Given the description of an element on the screen output the (x, y) to click on. 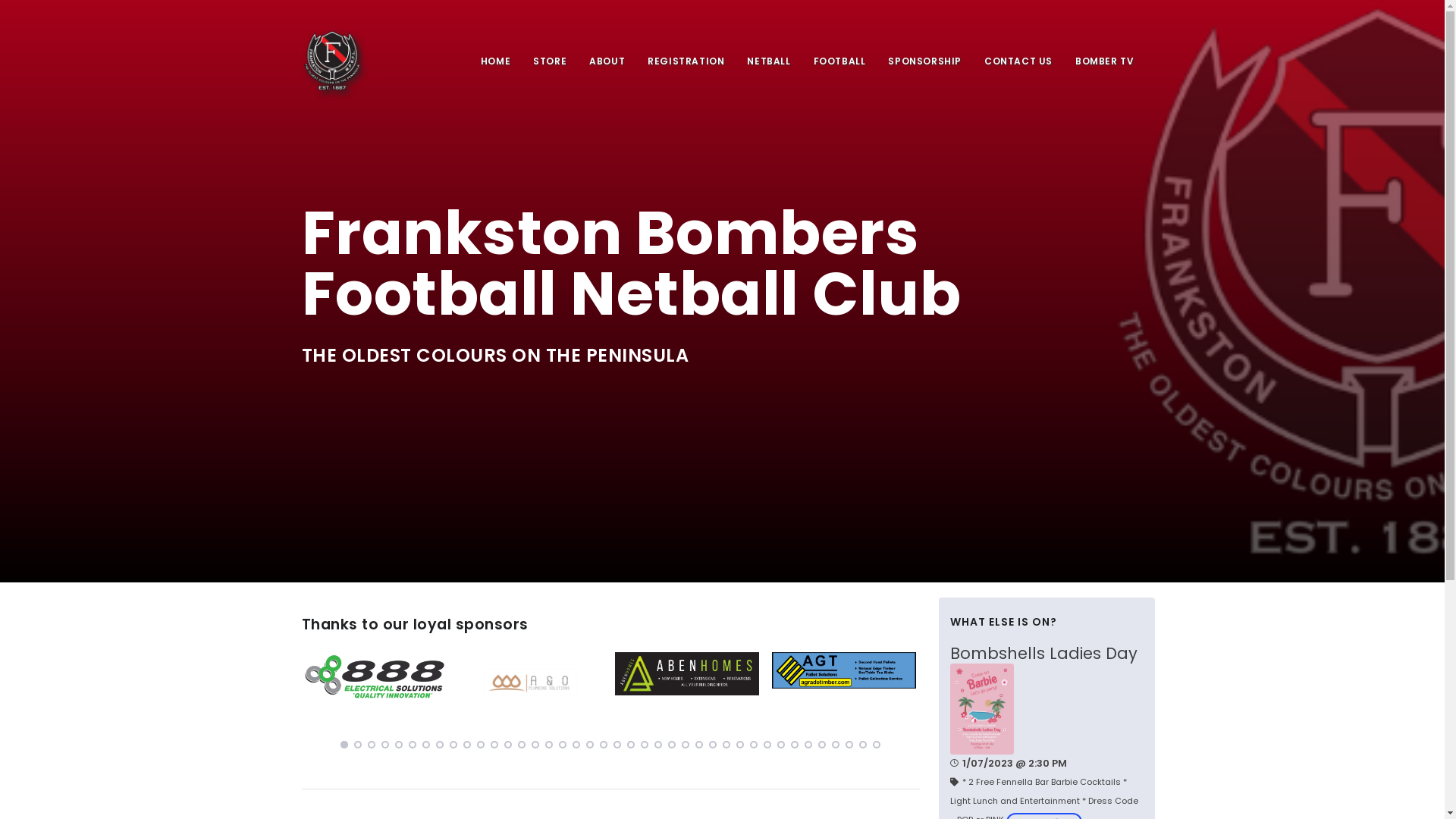
REGISTRATION Element type: text (685, 61)
STORE Element type: text (549, 61)
CONTACT US Element type: text (1018, 61)
SPONSORSHIP Element type: text (924, 61)
Bombshells Ladies Day Element type: text (1045, 653)
BOMBER TV Element type: text (1104, 61)
HOME Element type: text (495, 61)
FOOTBALL Element type: text (839, 61)
NETBALL Element type: text (768, 61)
ABOUT Element type: text (606, 61)
